Given the description of an element on the screen output the (x, y) to click on. 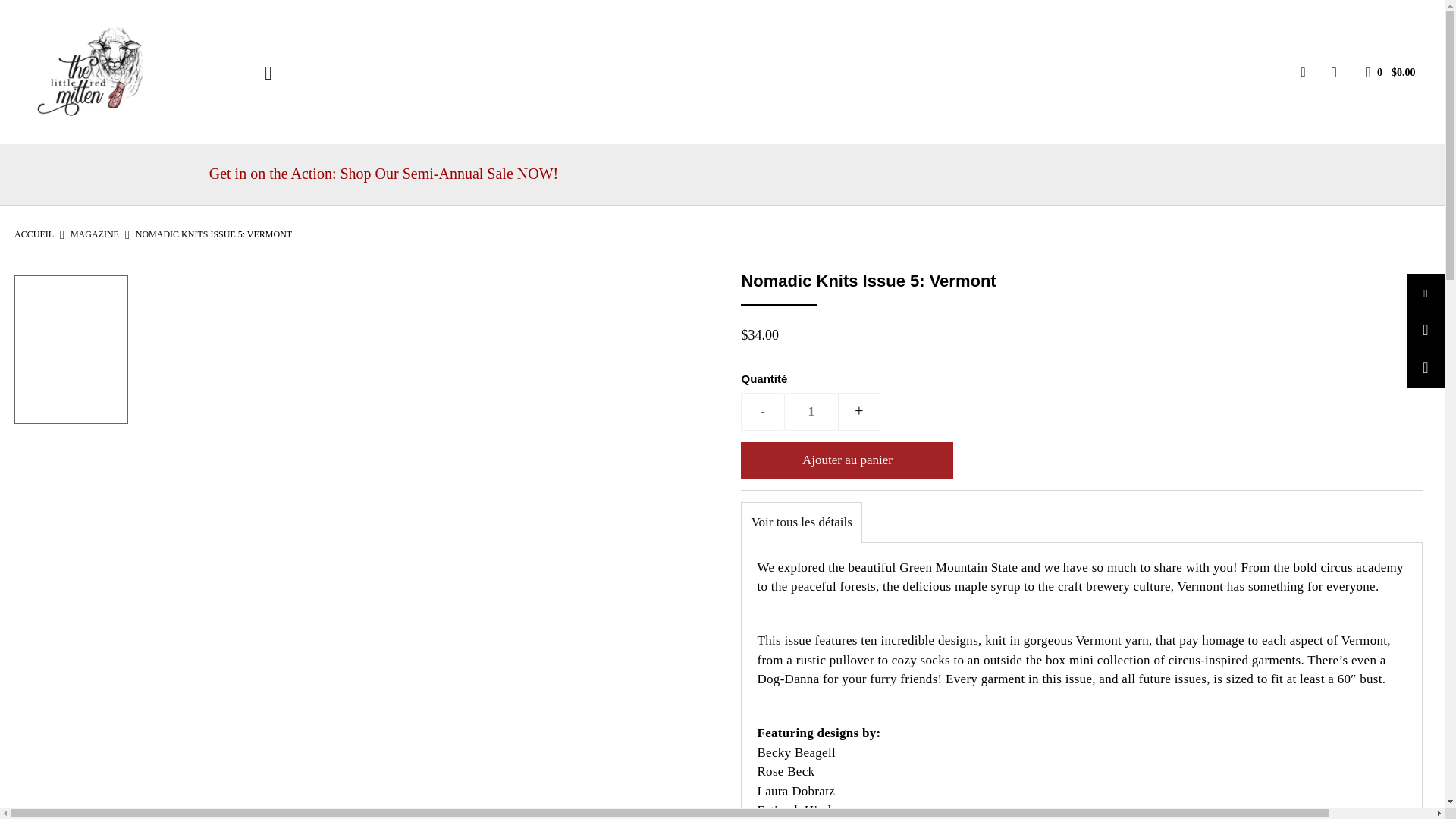
Ajouter au panier (847, 460)
1 (811, 411)
Sale (384, 173)
Get in on the Action: Shop Our Semi-Annual Sale NOW! (729, 174)
Magazine (94, 234)
Accueil (33, 234)
Get in on the Action: Shop Our Semi-Annual Sale NOW! (722, 174)
Partager sur Twitter (1425, 330)
Partager sur Facebook (1425, 292)
Partager sur Pinterest (1425, 368)
